Given the description of an element on the screen output the (x, y) to click on. 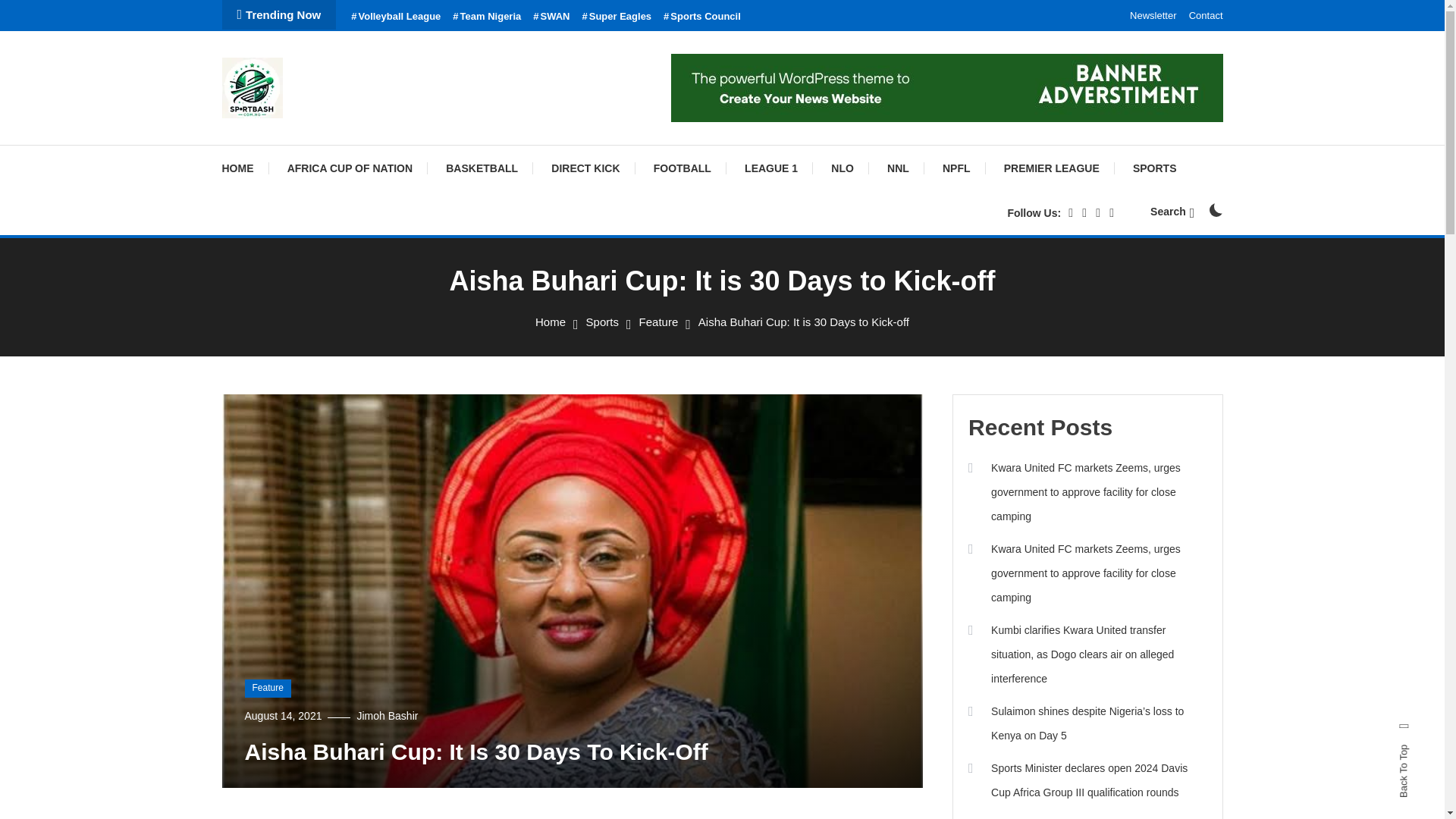
FOOTBALL (682, 167)
AFRICA CUP OF NATION (350, 167)
SPORTS (1155, 167)
Super Eagles (617, 16)
NNL (898, 167)
DIRECT KICK (584, 167)
NPFL (956, 167)
BASKETBALL (481, 167)
SportsBash (297, 137)
SWAN (550, 16)
Volleyball League (395, 16)
NLO (842, 167)
Contact (1206, 15)
PREMIER LEAGUE (1051, 167)
Newsletter (1152, 15)
